Given the description of an element on the screen output the (x, y) to click on. 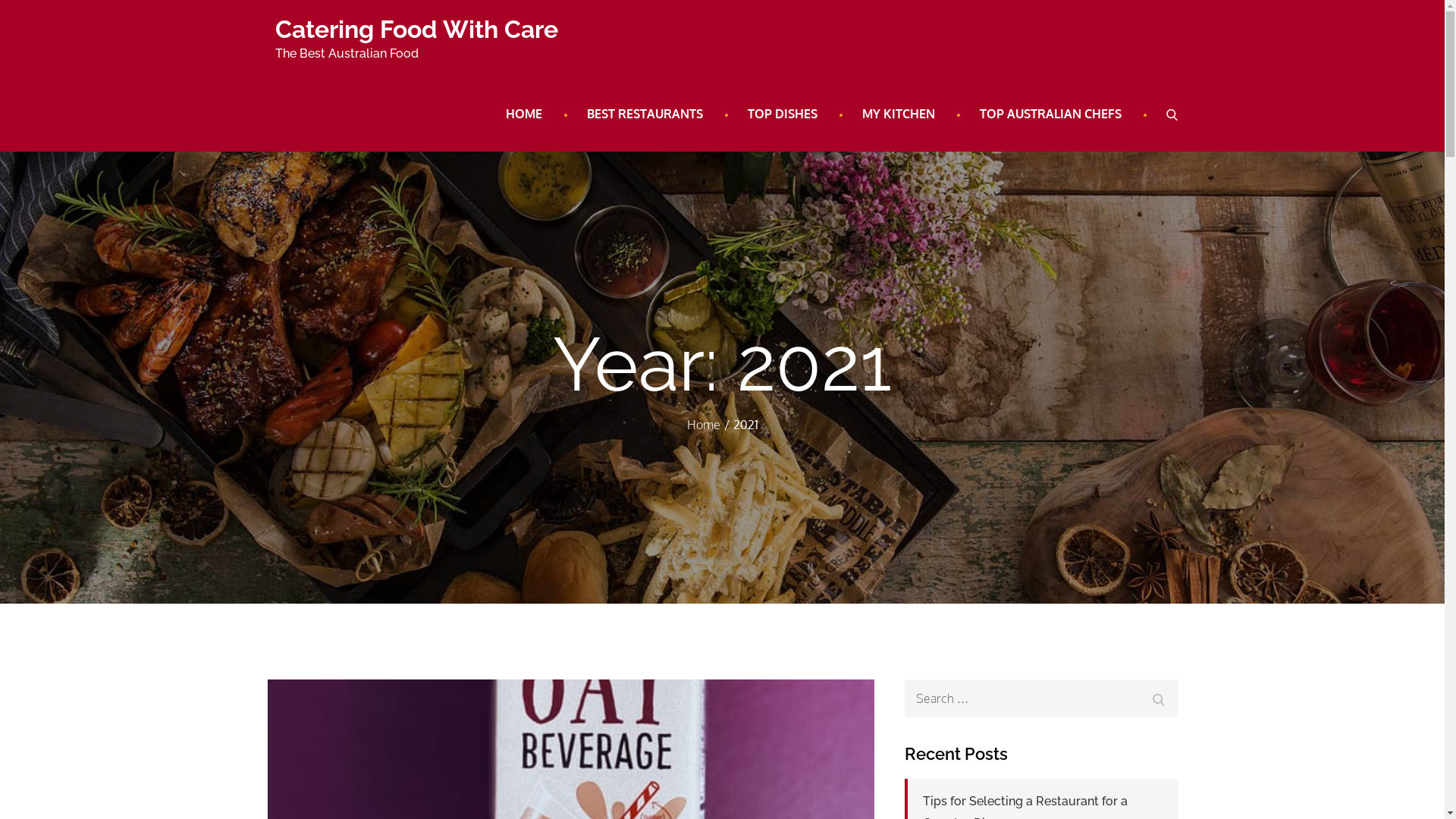
Catering Food With Care Element type: text (415, 29)
Home Element type: text (703, 424)
BEST RESTAURANTS Element type: text (643, 113)
Skip to content Element type: text (0, 0)
Search Element type: text (1157, 698)
TOP DISHES Element type: text (781, 113)
MY KITCHEN Element type: text (898, 113)
HOME Element type: text (523, 113)
TOP AUSTRALIAN CHEFS Element type: text (1049, 113)
